Given the description of an element on the screen output the (x, y) to click on. 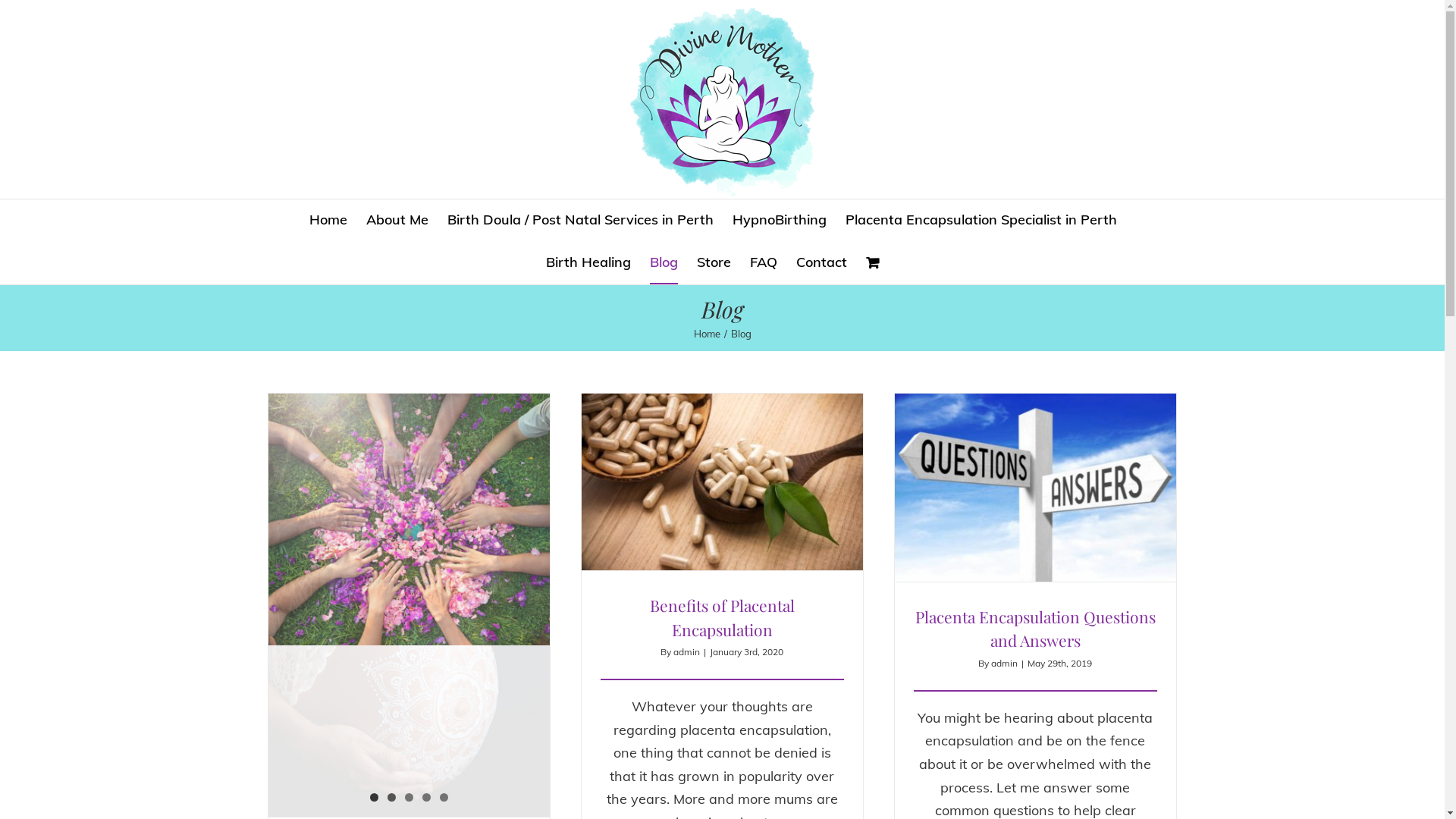
Benefits of Placental Encapsulation Element type: text (721, 617)
Home Element type: text (706, 333)
Birth Doula / Post Natal Services in Perth Element type: text (580, 220)
Blog Element type: text (663, 262)
4 Element type: text (426, 797)
Placenta Encapsulation Questions and Answers Element type: text (1035, 628)
3 Element type: text (408, 797)
1 Element type: text (374, 797)
5 Element type: text (443, 797)
Placenta Encapsulation Specialist in Perth Element type: text (980, 220)
HypnoBirthing Element type: text (779, 220)
Contact Element type: text (821, 262)
admin Element type: text (1004, 662)
About Me Element type: text (396, 220)
Birth Healing Element type: text (588, 262)
2 Element type: text (391, 797)
Home Element type: text (328, 220)
admin Element type: text (686, 651)
FAQ Element type: text (763, 262)
Store Element type: text (713, 262)
